Given the description of an element on the screen output the (x, y) to click on. 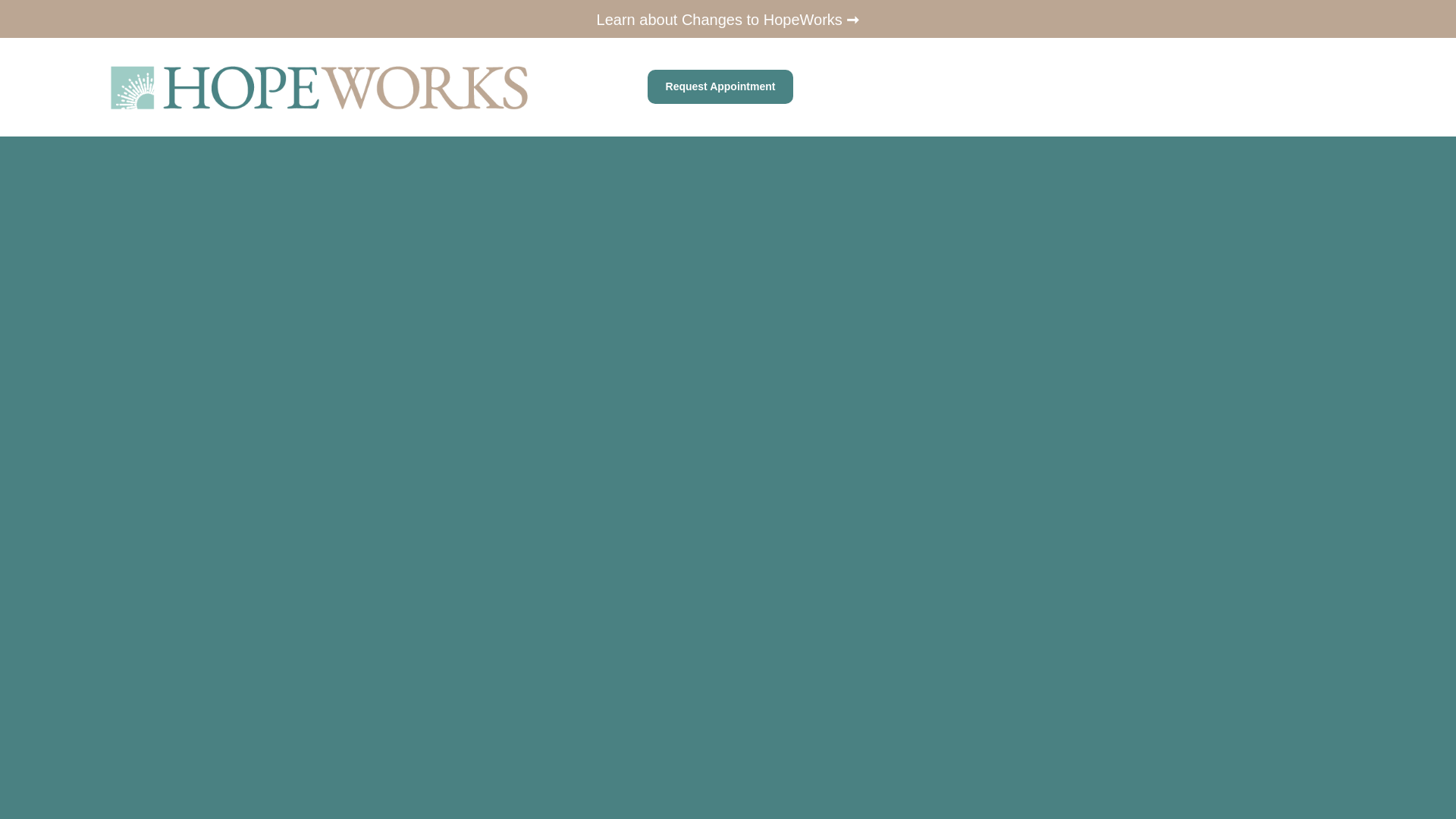
Request Appointment (720, 86)
Request Appointment (720, 86)
